Given the description of an element on the screen output the (x, y) to click on. 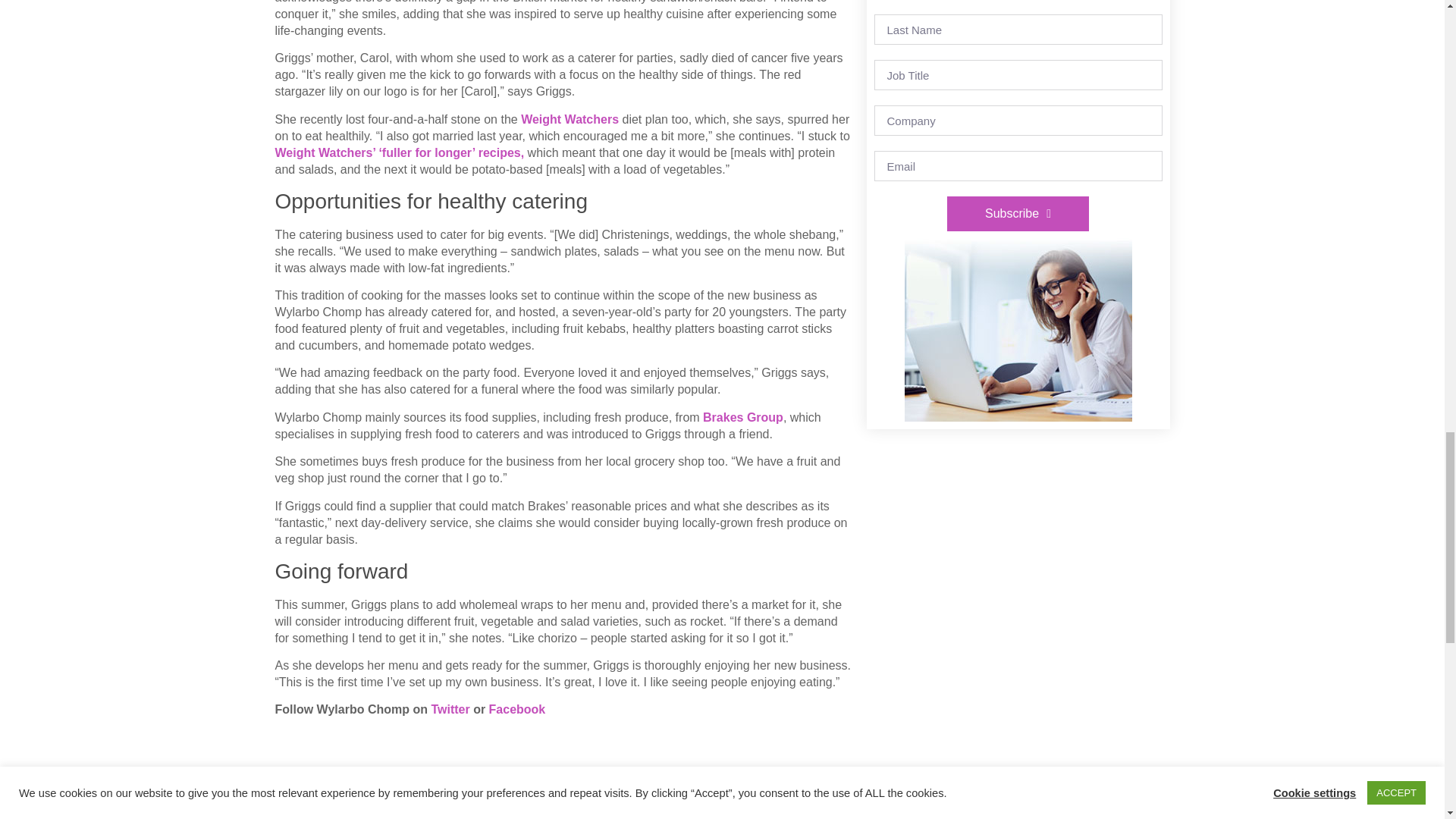
Weight Watchers (569, 119)
Facebook (517, 708)
Brakes Group (743, 417)
Twitter (449, 708)
